Given the description of an element on the screen output the (x, y) to click on. 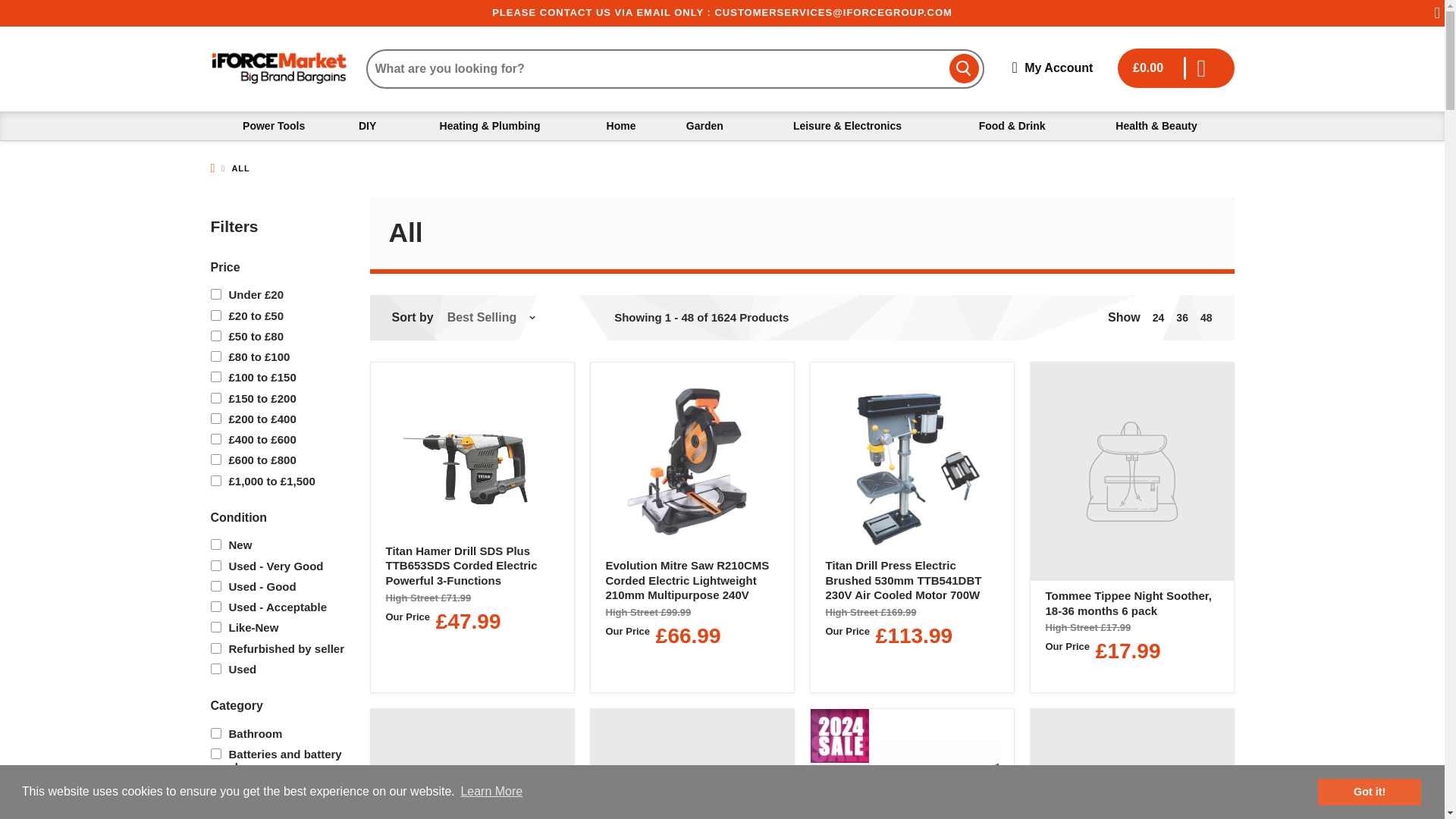
Batteries and battery chargers (280, 760)
Power Tools (274, 125)
Learn More (491, 791)
Used - Very Good (280, 565)
Got it! (1369, 791)
Used (280, 669)
New (280, 544)
Used - Good (280, 586)
Like-New (280, 627)
My Account (1055, 67)
Bathroom (280, 733)
Refurbished by seller (280, 648)
DIY (367, 125)
Used - Acceptable (280, 606)
